Given the description of an element on the screen output the (x, y) to click on. 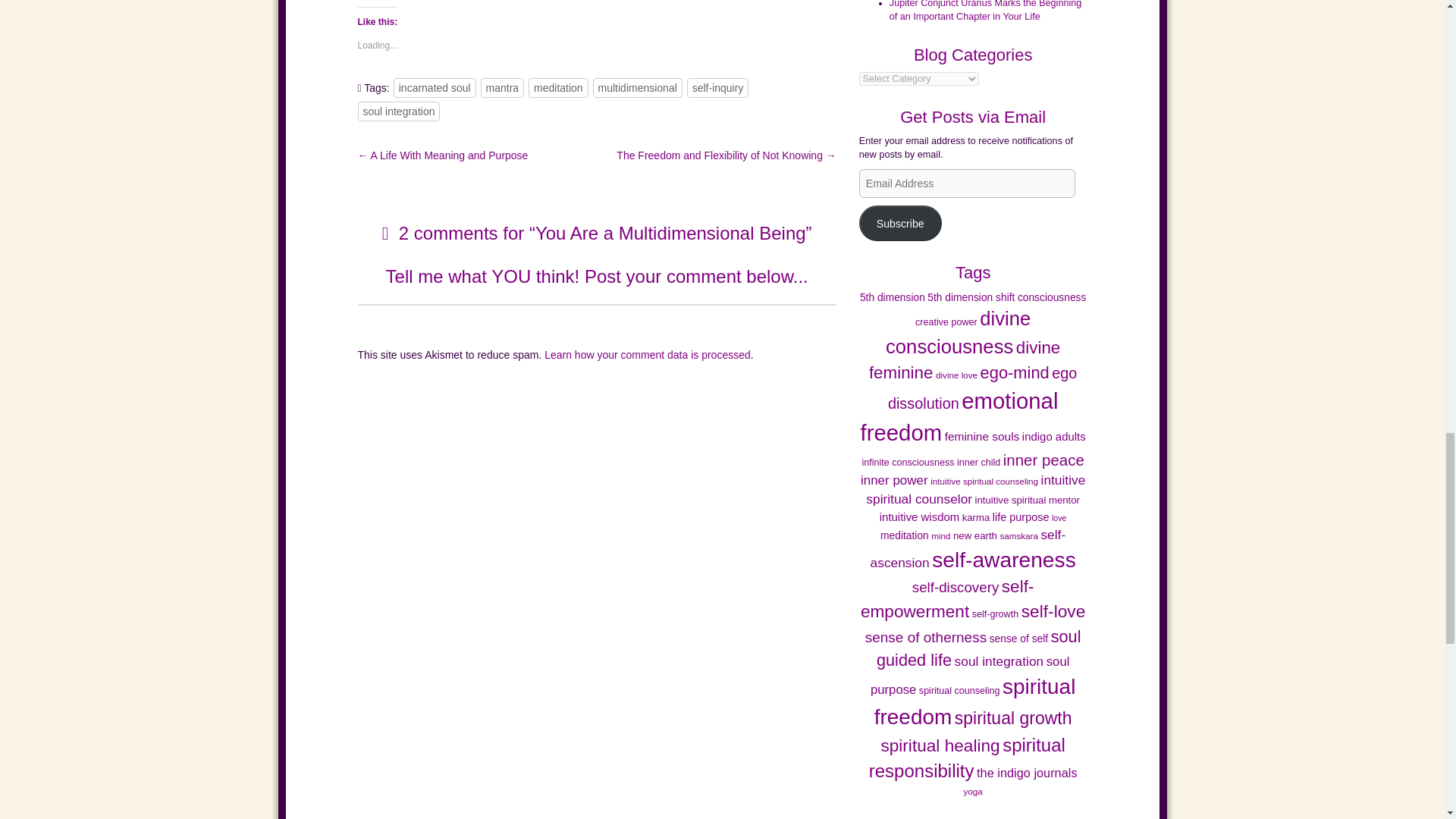
incarnated soul (434, 87)
mantra (502, 87)
